Given the description of an element on the screen output the (x, y) to click on. 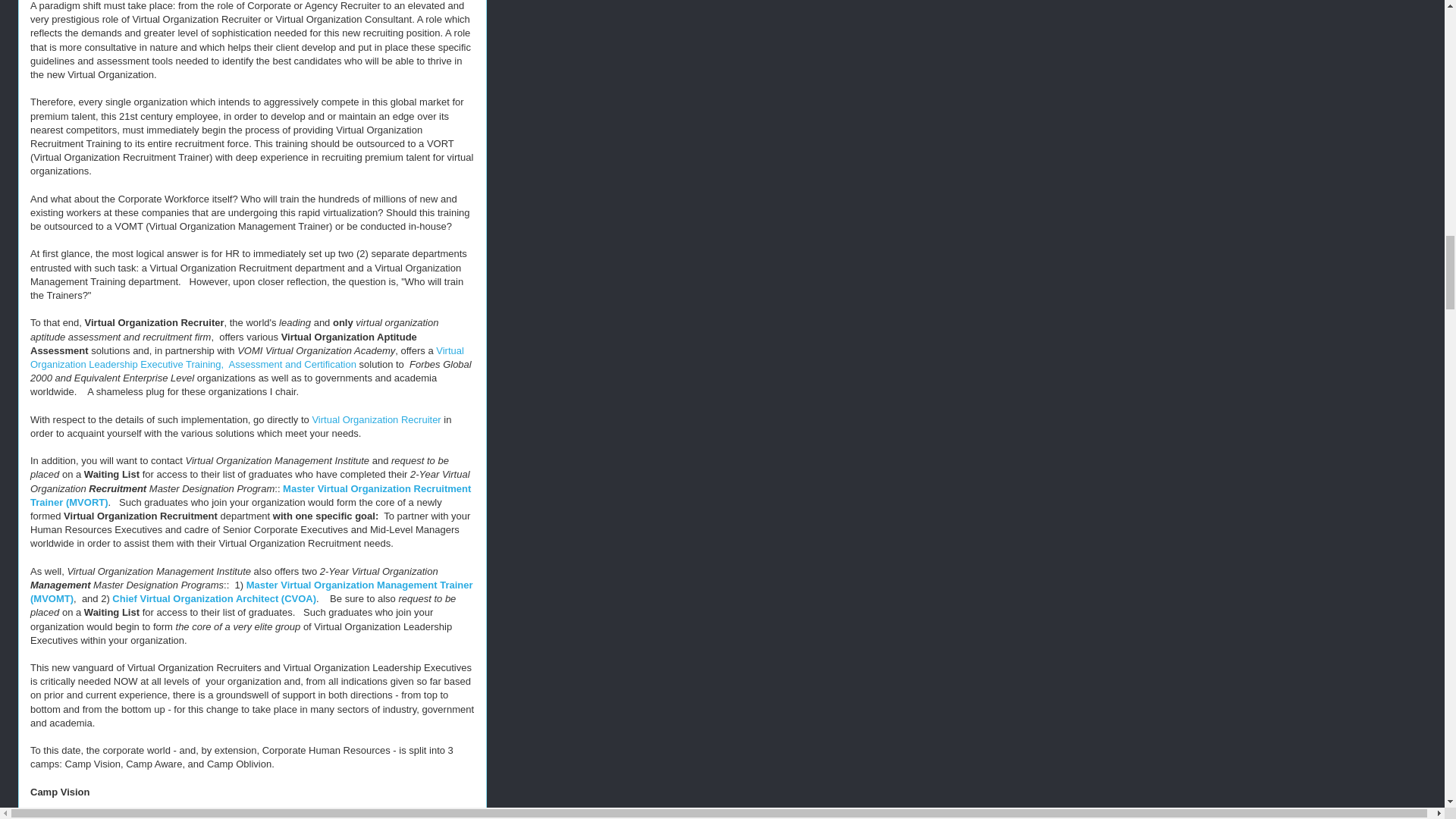
Virtual Organization Recruiter (376, 419)
